Given the description of an element on the screen output the (x, y) to click on. 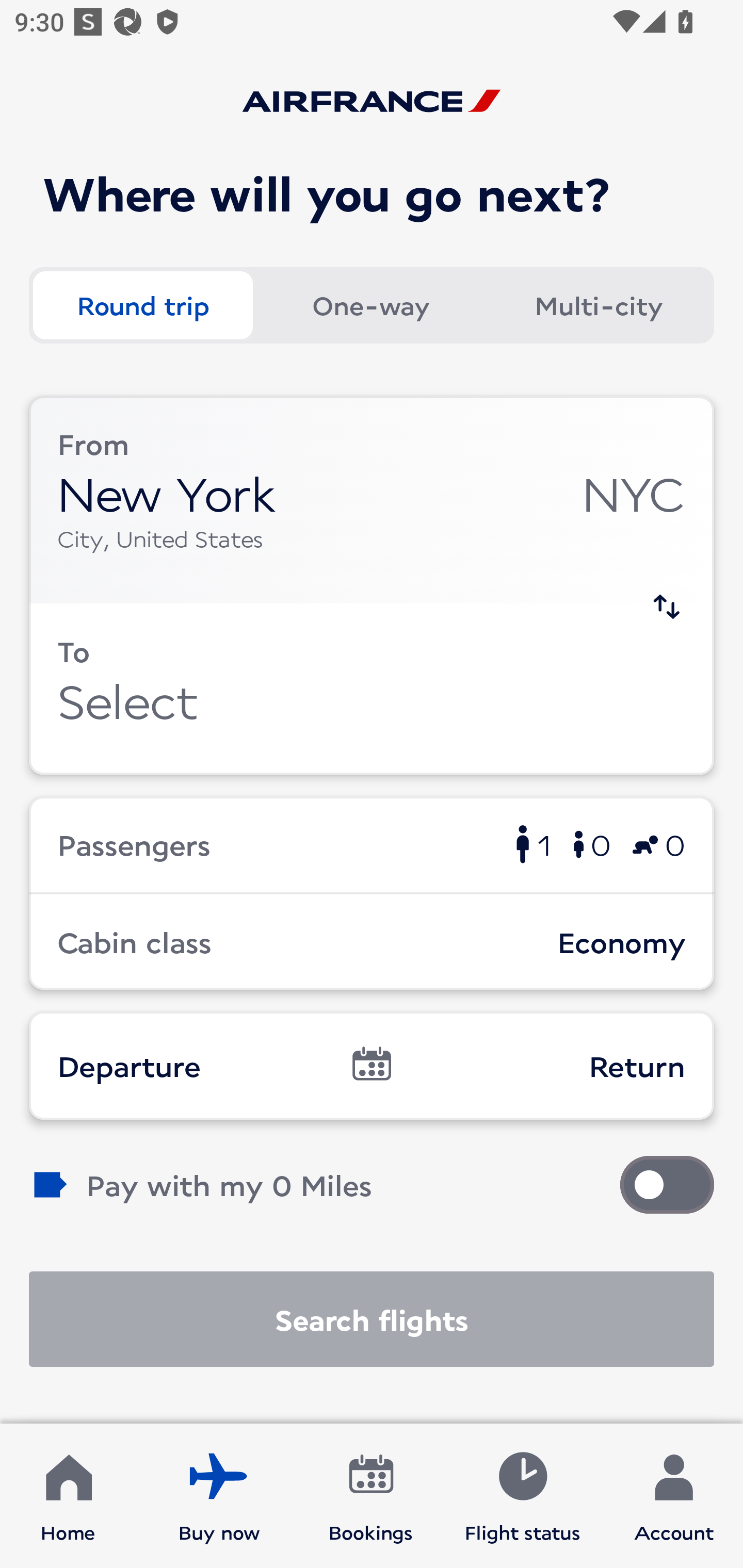
Round trip (142, 304)
One-way (370, 304)
Multi-city (598, 304)
From New York NYC City, United States (371, 499)
To Select (371, 688)
Passengers 1 0 0 (371, 844)
Cabin class Economy (371, 941)
Departure Return (371, 1065)
Search flights (371, 1319)
Home (68, 1495)
Bookings (370, 1495)
Flight status (522, 1495)
Account (674, 1495)
